Given the description of an element on the screen output the (x, y) to click on. 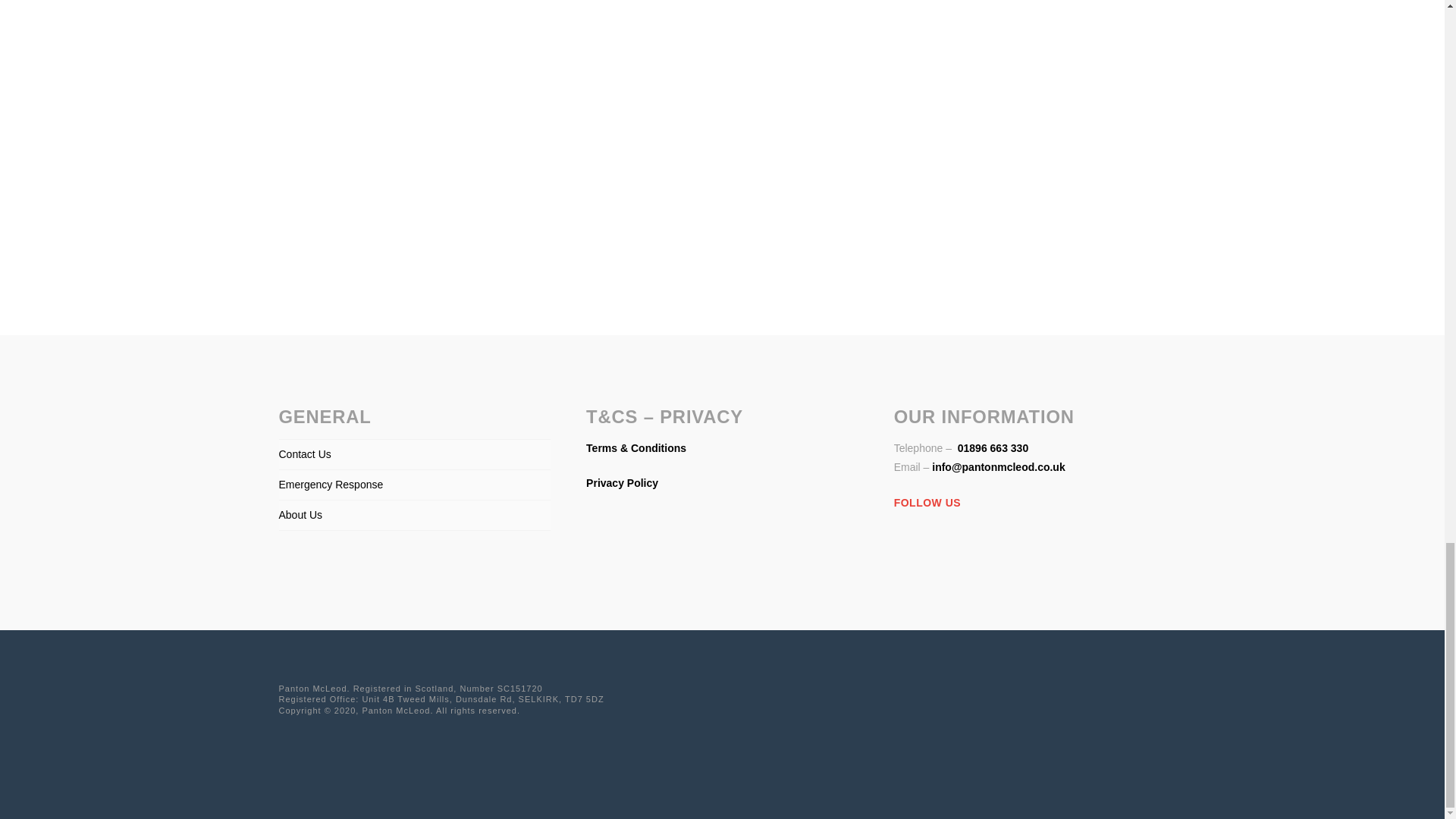
01896 663330 (991, 448)
